Given the description of an element on the screen output the (x, y) to click on. 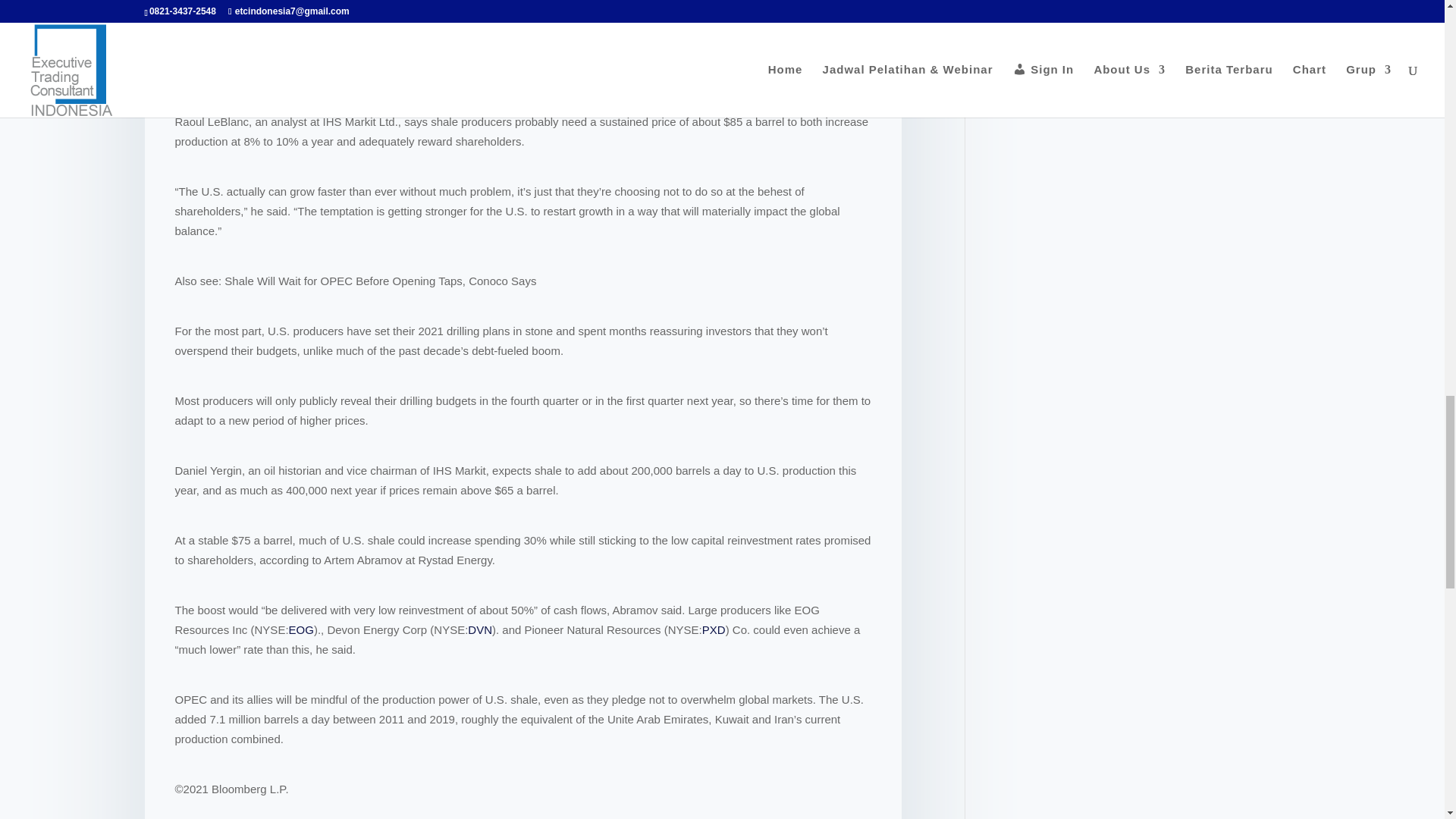
EOG (301, 629)
PXD (713, 629)
Brent crude (469, 51)
DVN (479, 629)
